Given the description of an element on the screen output the (x, y) to click on. 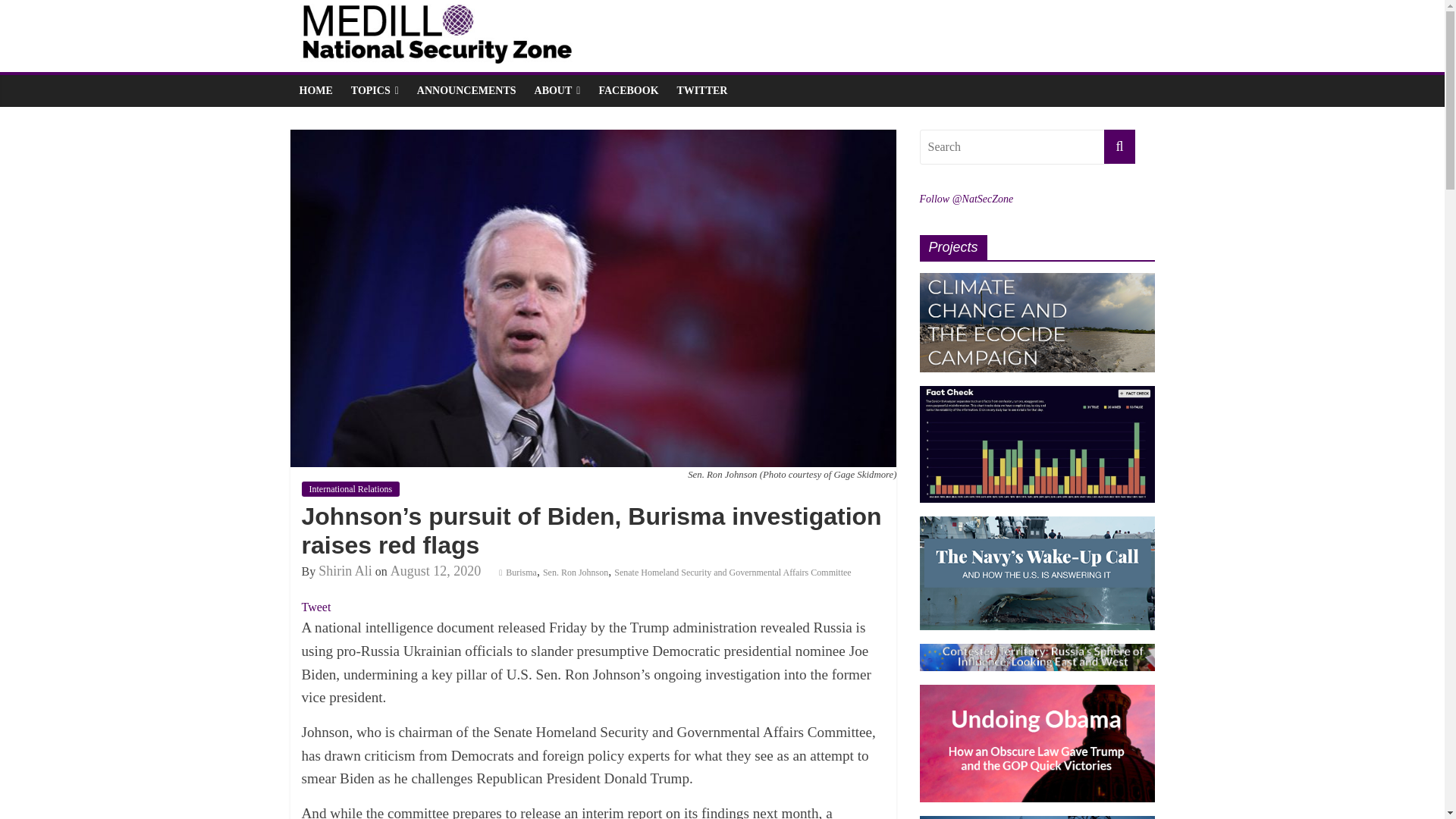
TOPICS (374, 91)
HOME (314, 91)
8:31 pm (435, 570)
National Security Zone (713, 12)
ANNOUNCEMENTS (466, 91)
Senate Homeland Security and Governmental Affairs Committee (732, 572)
Posts by Shirin Ali (345, 570)
Shirin Ali (345, 570)
FACEBOOK (627, 91)
Sen. Ron Johnson (575, 572)
International Relations (350, 488)
August 12, 2020 (435, 570)
Tweet (316, 606)
TWITTER (702, 91)
ABOUT (557, 91)
